Given the description of an element on the screen output the (x, y) to click on. 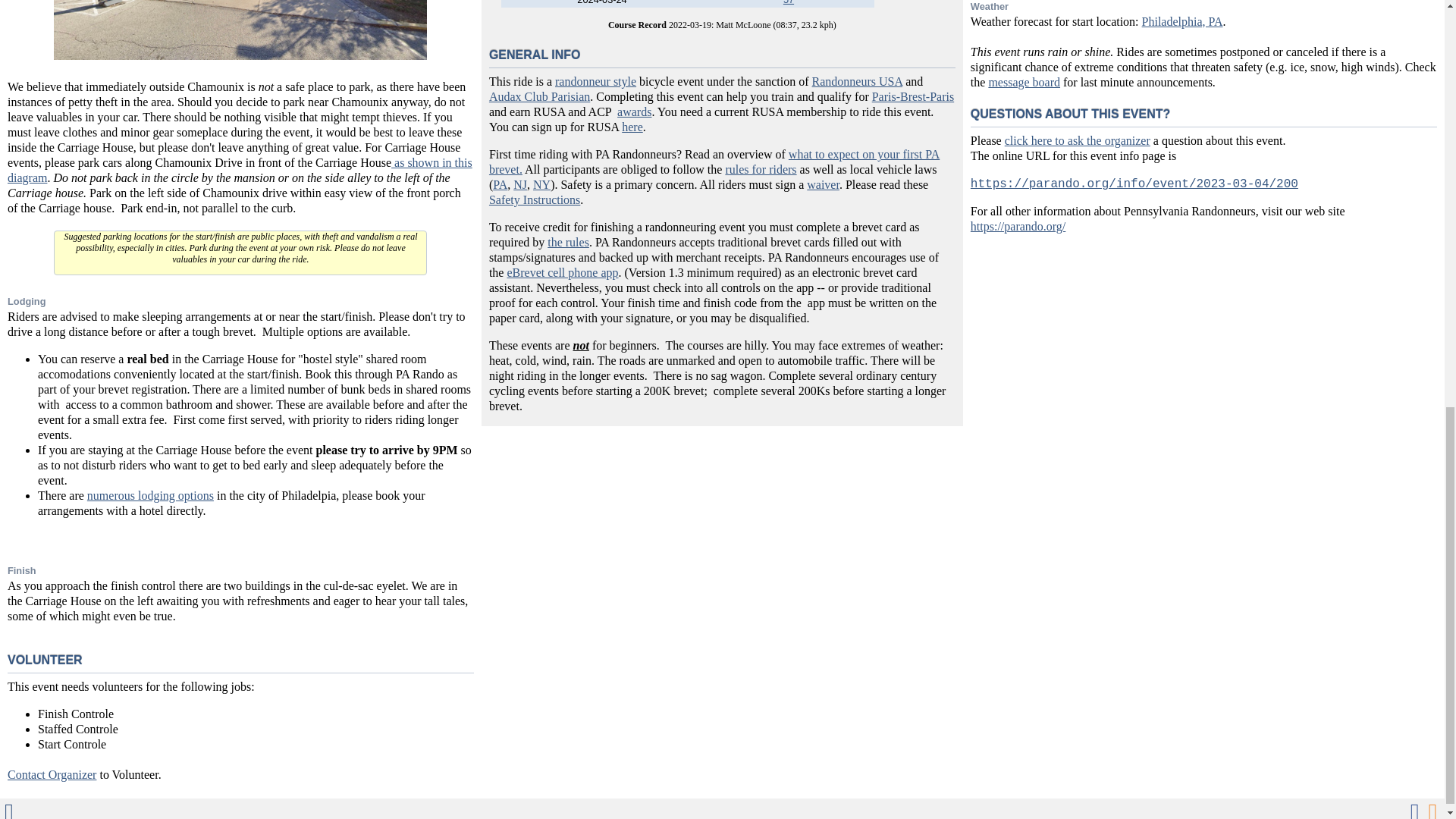
randonneur style (595, 81)
awards (633, 111)
rules for riders (760, 169)
Audax Club Parisian (539, 96)
57 (788, 2)
Detailed Results (788, 2)
Randonneurs USA (857, 81)
numerous lodging options (150, 495)
Paris-Brest-Paris (912, 96)
what to expect on your first PA brevet. (714, 162)
here (632, 126)
as shown in this diagram (239, 170)
Contact Organizer (51, 774)
NJ (520, 184)
PA (499, 184)
